Given the description of an element on the screen output the (x, y) to click on. 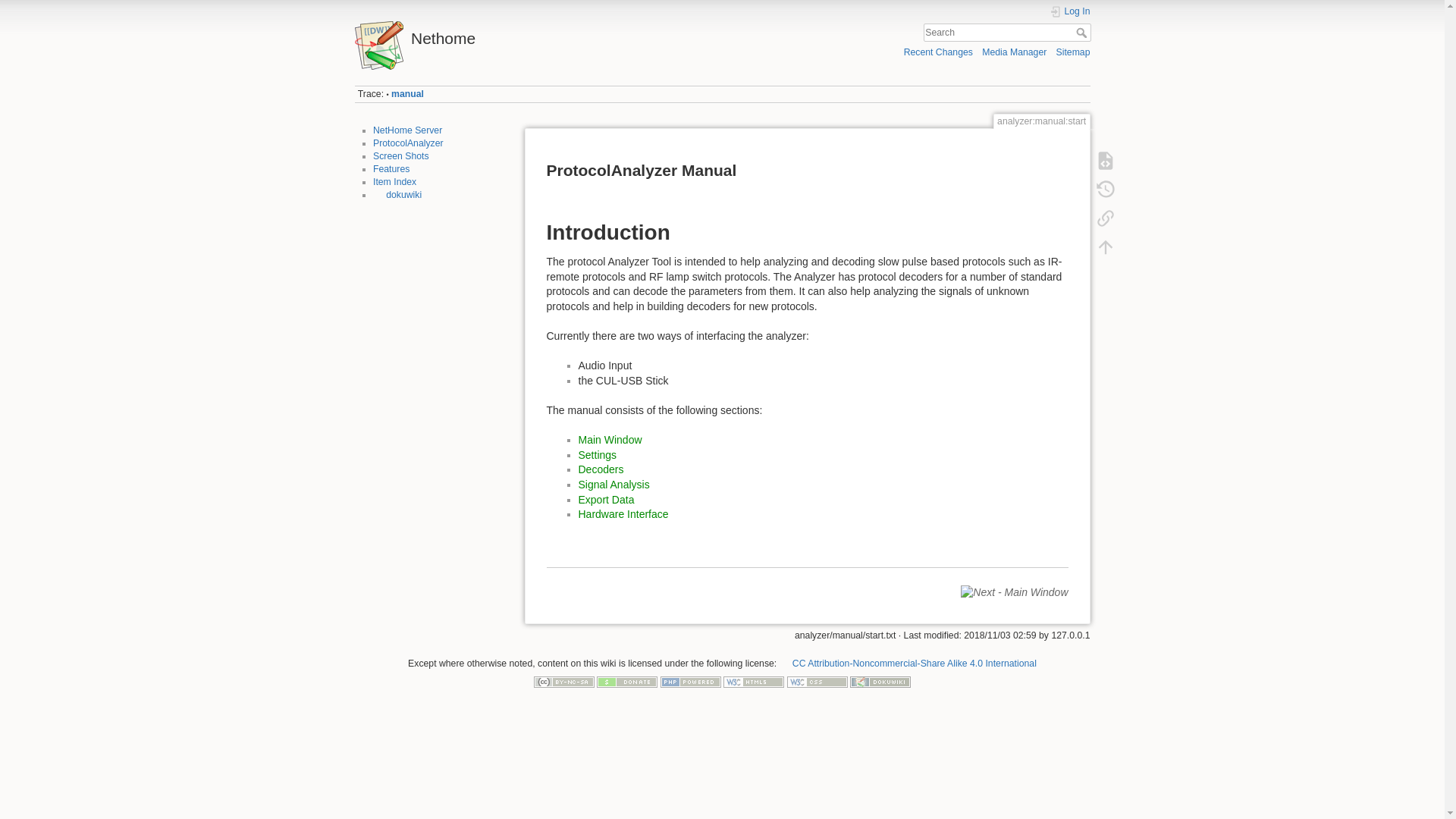
Item Index (394, 181)
Main Window (610, 439)
screenshots (400, 155)
nethomeserverfeatures (390, 168)
CC Attribution-Noncommercial-Share Alike 4.0 International (907, 663)
Media Manager (1013, 51)
start (407, 130)
Nethome (534, 34)
ProtocolAnalyzer (408, 143)
dokuwiki (397, 194)
Features (390, 168)
Search (1082, 32)
Hardware Interface (623, 513)
Search (1082, 32)
Decoders (600, 469)
